Given the description of an element on the screen output the (x, y) to click on. 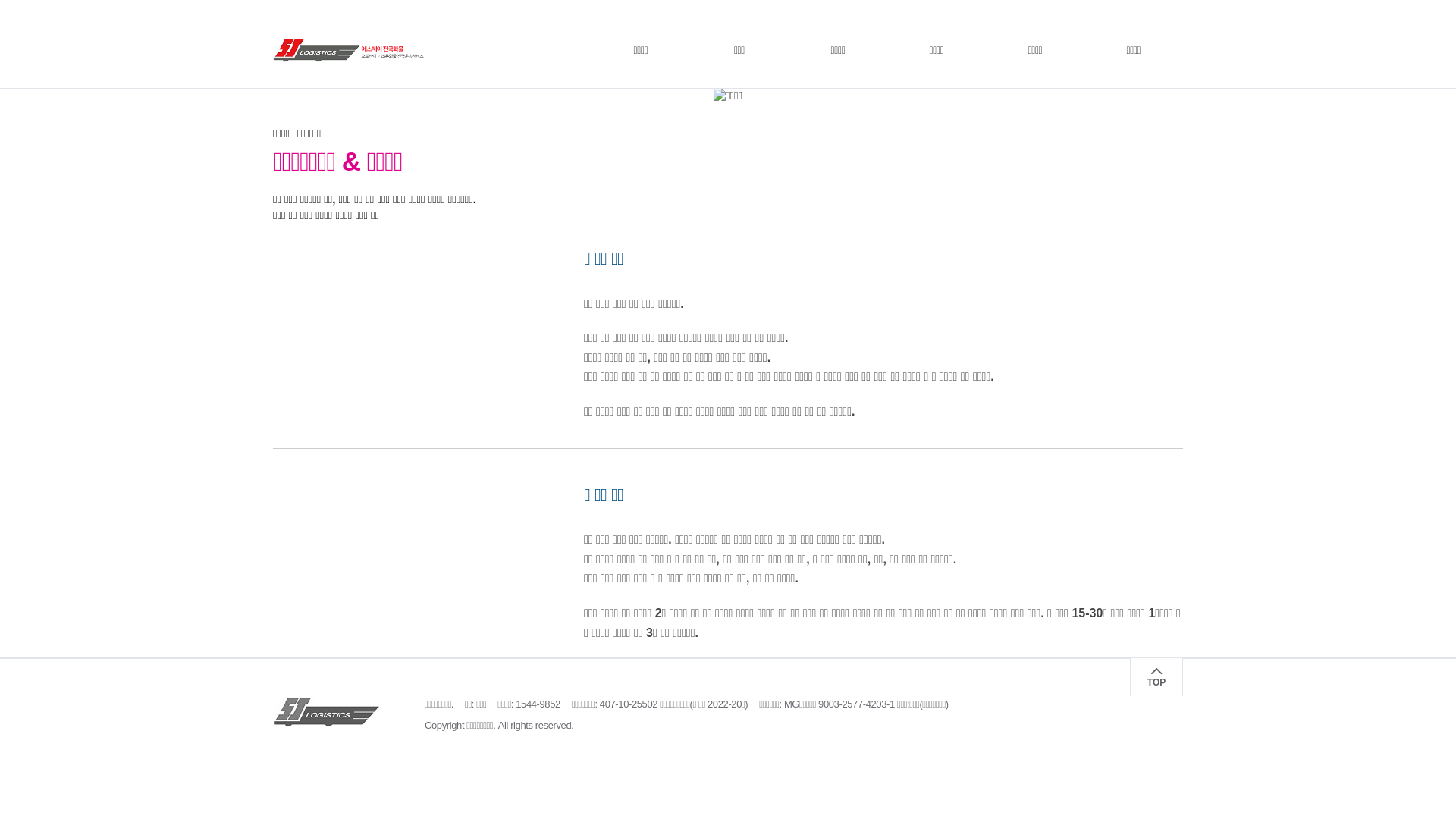
TOP Element type: text (1156, 677)
